Given the description of an element on the screen output the (x, y) to click on. 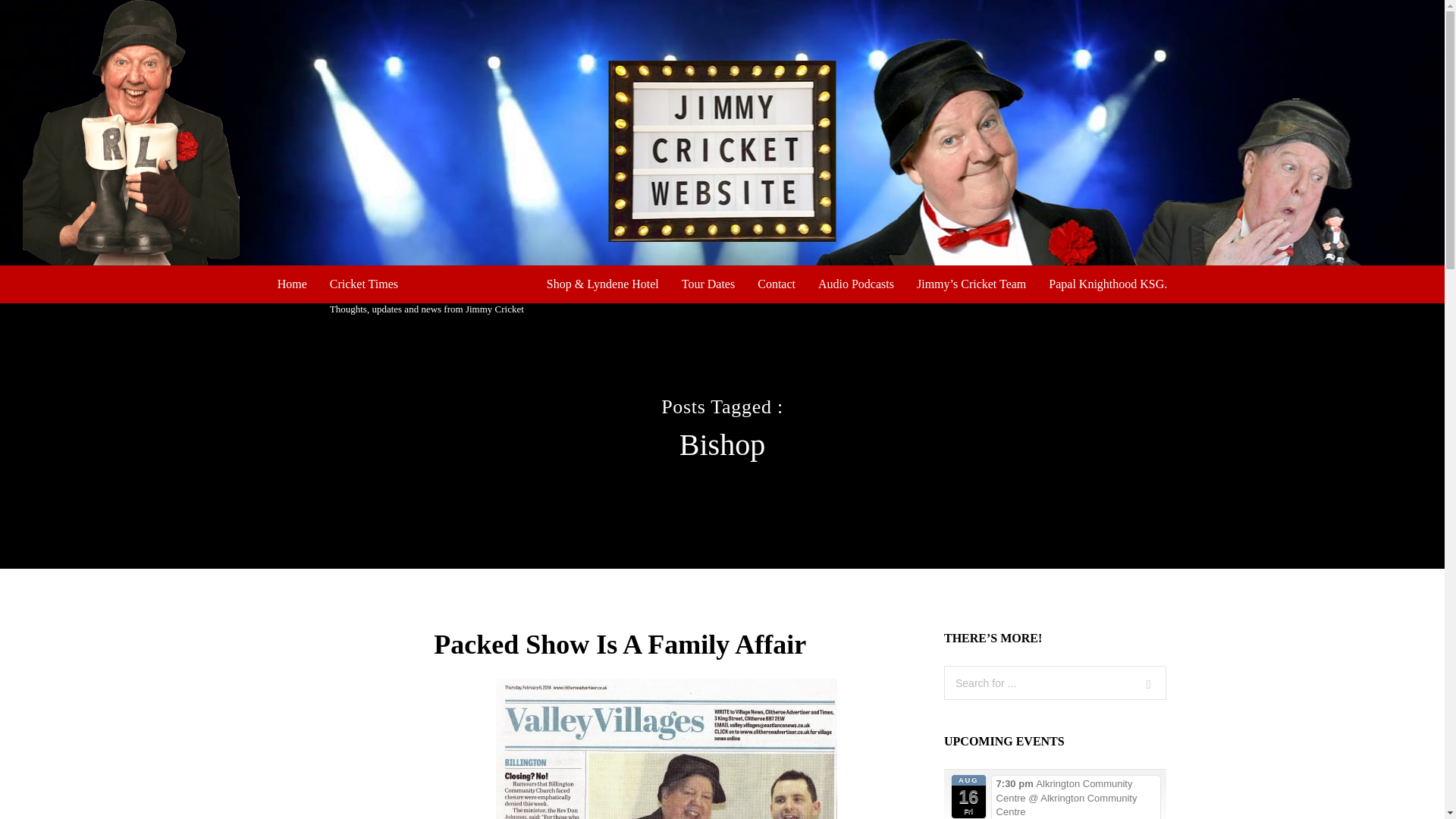
Home (292, 284)
Audio Podcasts (855, 284)
Newsletter  (775, 284)
Tour Dates (707, 284)
Papal Knighthood KSG. (426, 290)
Contact (1106, 284)
Packed Show Is A Family Affair (775, 284)
